Given the description of an element on the screen output the (x, y) to click on. 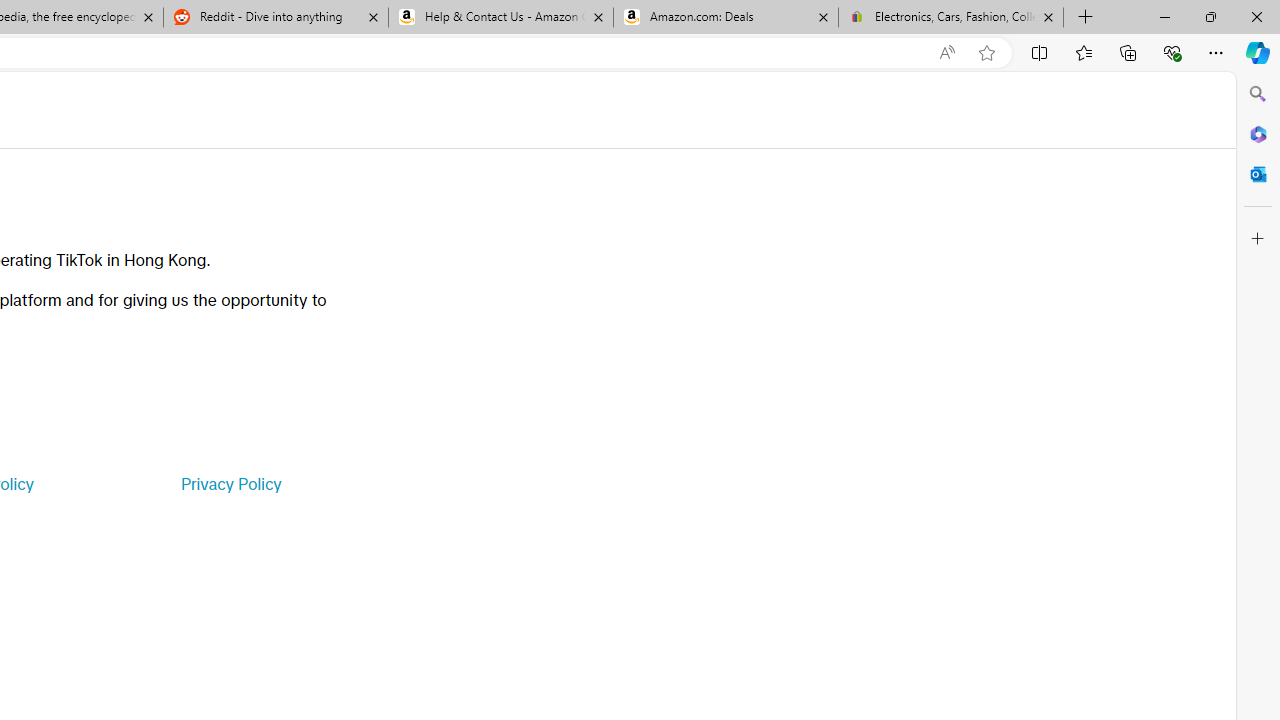
Electronics, Cars, Fashion, Collectibles & More | eBay (950, 17)
Help & Contact Us - Amazon Customer Service (501, 17)
Privacy Policy (230, 484)
Reddit - Dive into anything (275, 17)
